Given the description of an element on the screen output the (x, y) to click on. 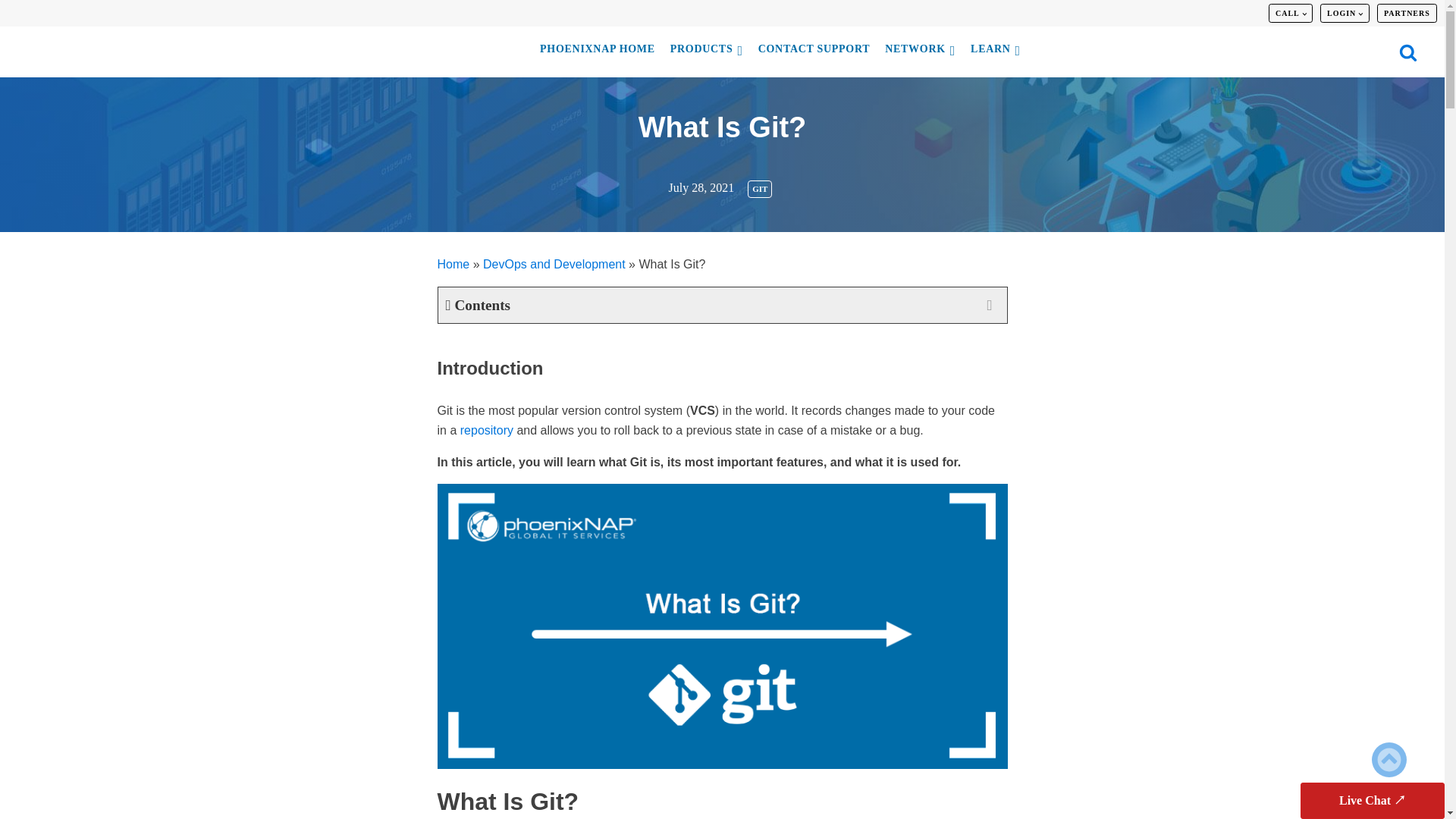
LOGIN (1344, 13)
PHOENIXNAP HOME (597, 51)
PARTNERS (1406, 13)
PRODUCTS (706, 51)
CALL (1290, 13)
